Given the description of an element on the screen output the (x, y) to click on. 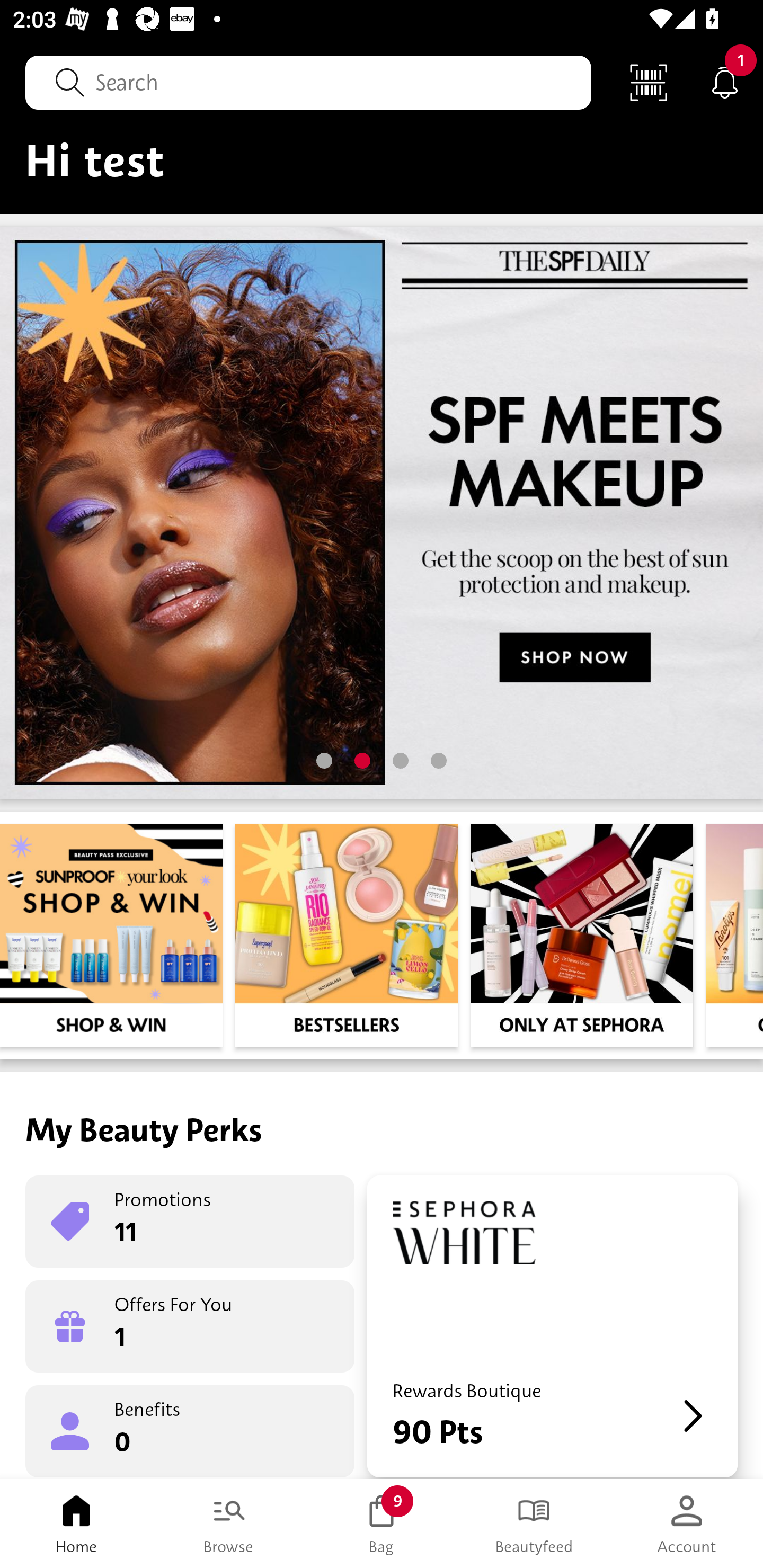
Scan Code (648, 81)
Notifications (724, 81)
Search (308, 81)
Promotions 11 (189, 1221)
Rewards Boutique 90 Pts (552, 1326)
Offers For You 1 (189, 1326)
Benefits 0 (189, 1430)
Browse (228, 1523)
Bag 9 Bag (381, 1523)
Beautyfeed (533, 1523)
Account (686, 1523)
